Given the description of an element on the screen output the (x, y) to click on. 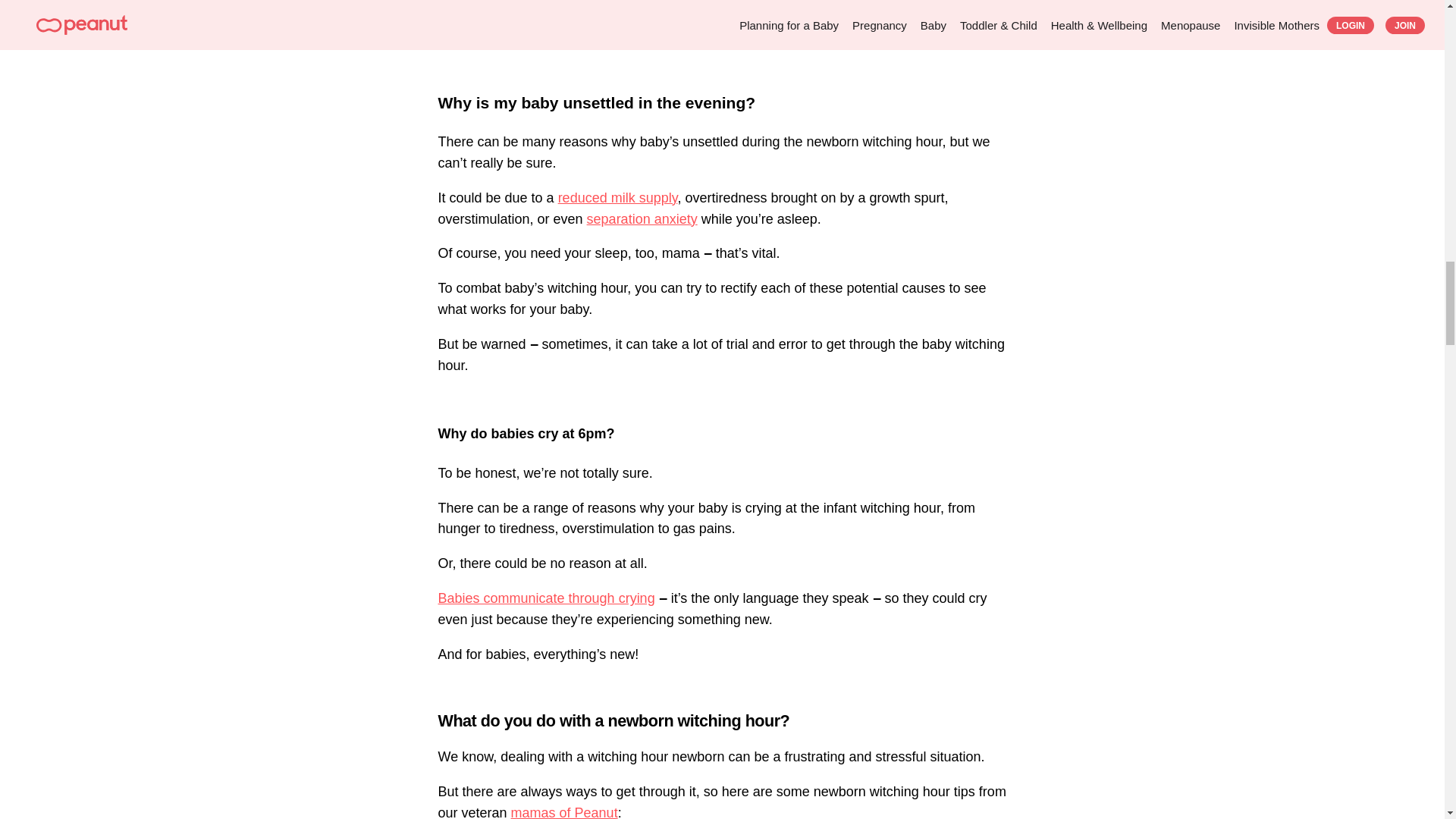
baby growth spurt (860, 13)
reduced milk supply (617, 197)
Babies communicate through crying (546, 598)
mamas of Peanut (564, 812)
separation anxiety (641, 218)
